Given the description of an element on the screen output the (x, y) to click on. 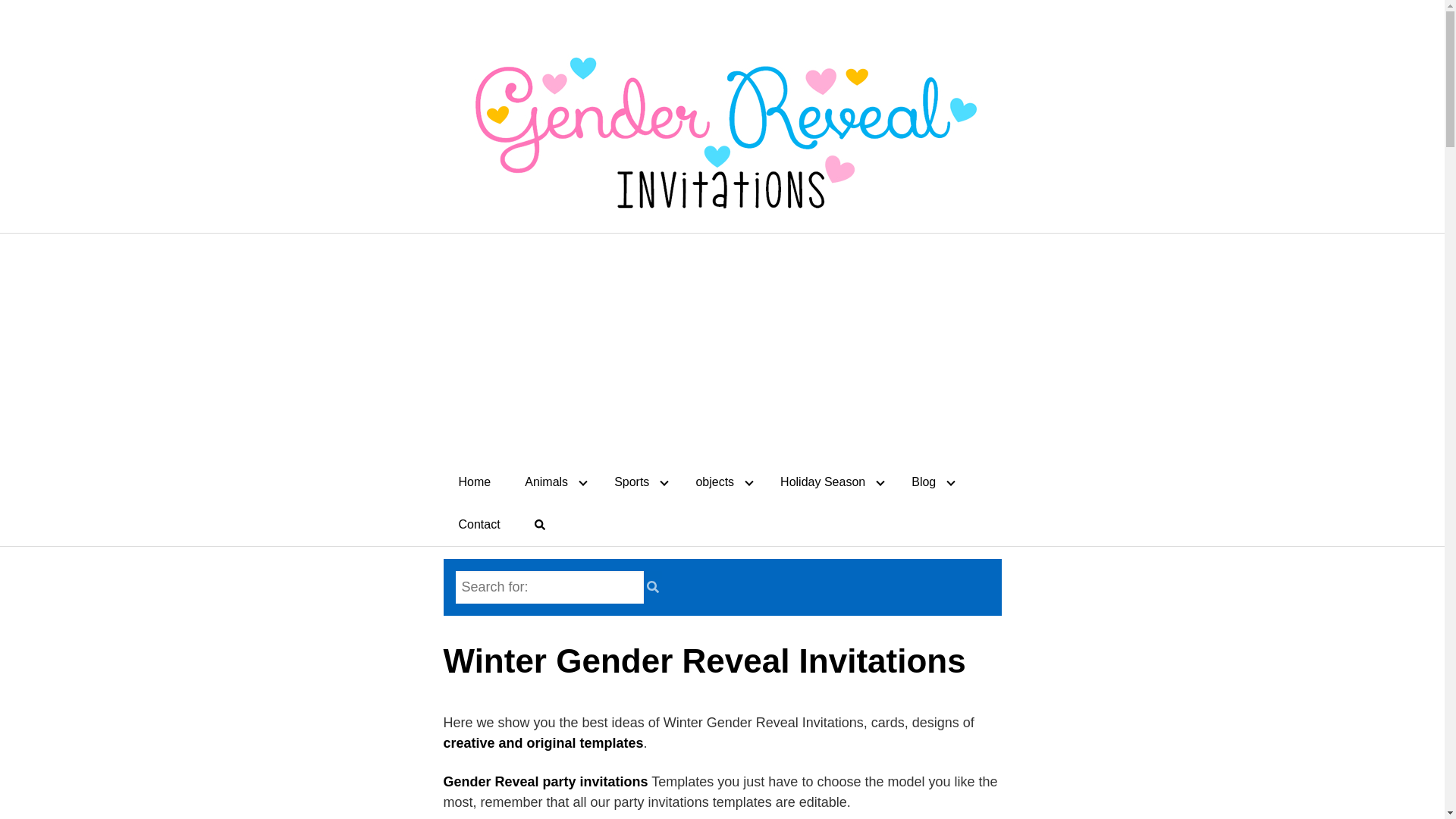
objects (720, 482)
Home (473, 482)
Animals (552, 482)
Blog (929, 482)
Sports (637, 482)
Contact (478, 524)
Holiday Season (828, 482)
Search for: (548, 586)
